Given the description of an element on the screen output the (x, y) to click on. 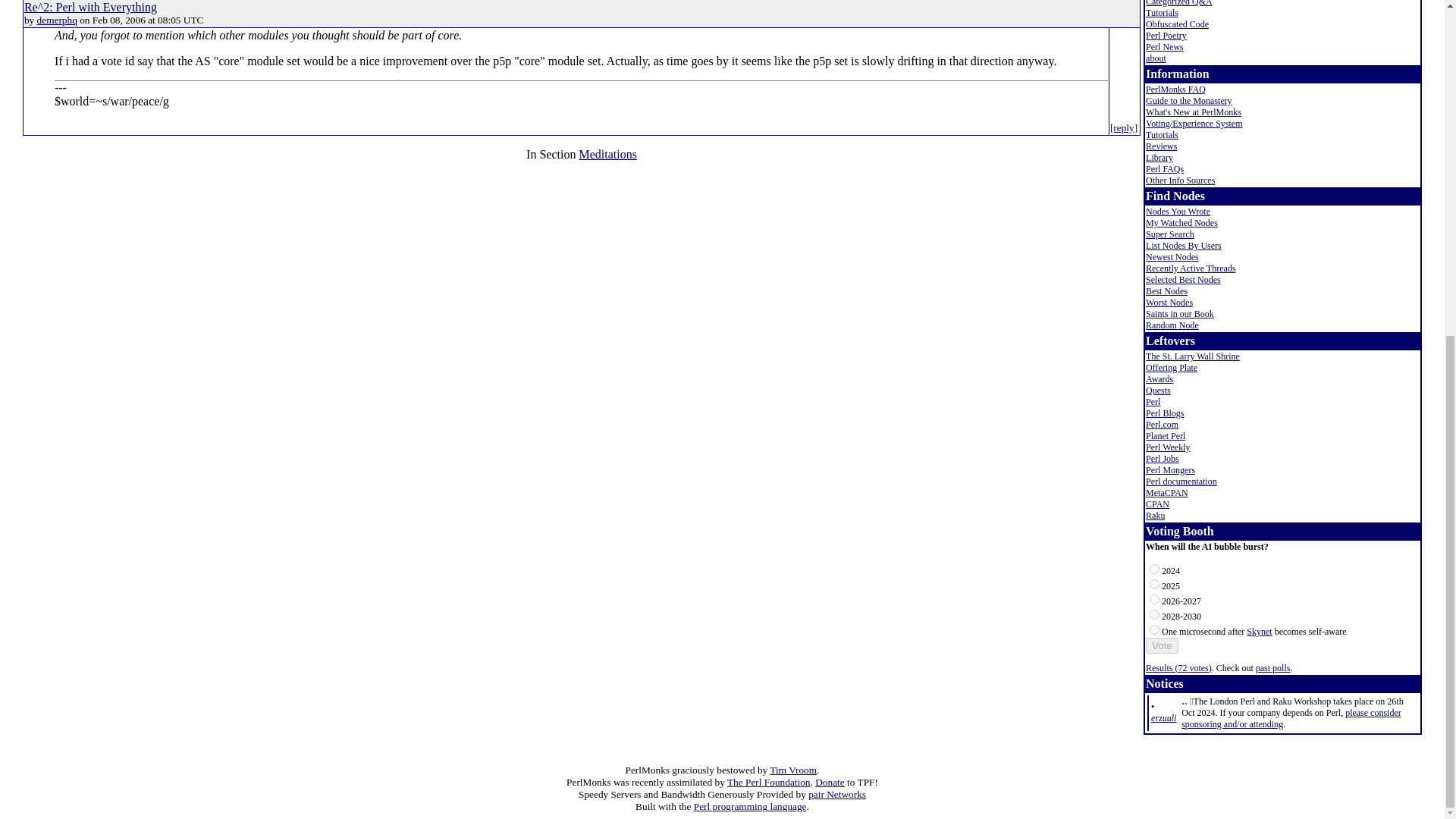
2 (1154, 599)
0 (1154, 569)
1 (1154, 583)
Vote (1161, 645)
3 (1154, 614)
4 (1154, 629)
demerphq (57, 19)
2024-05-30 14:23:36 (1163, 717)
Meditations (607, 154)
